Given the description of an element on the screen output the (x, y) to click on. 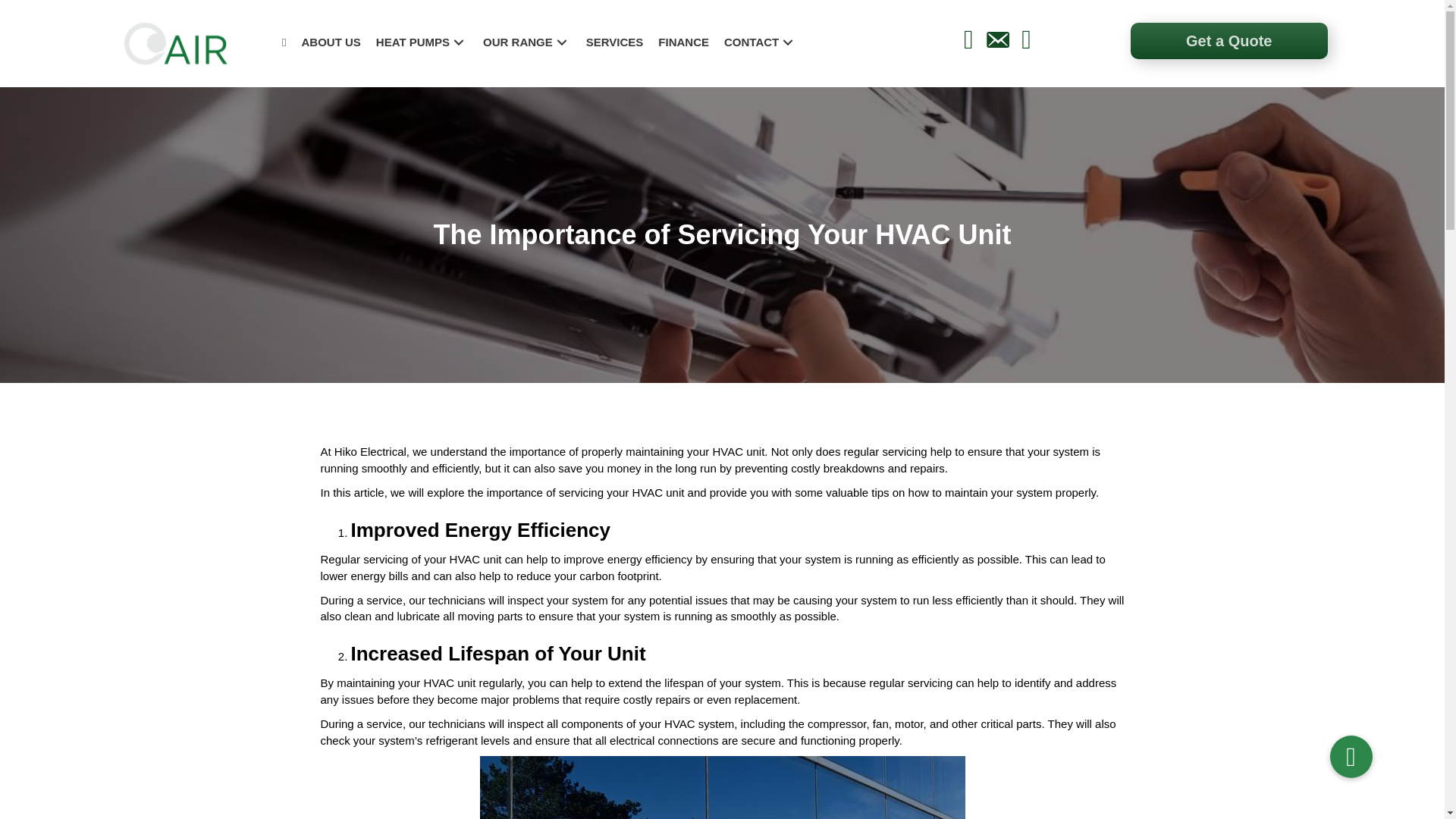
HEAT PUMPS (422, 42)
OUR RANGE (527, 42)
SERVICES (614, 42)
FINANCE (683, 42)
CONTACT (760, 42)
ABOUT US (331, 42)
